Given the description of an element on the screen output the (x, y) to click on. 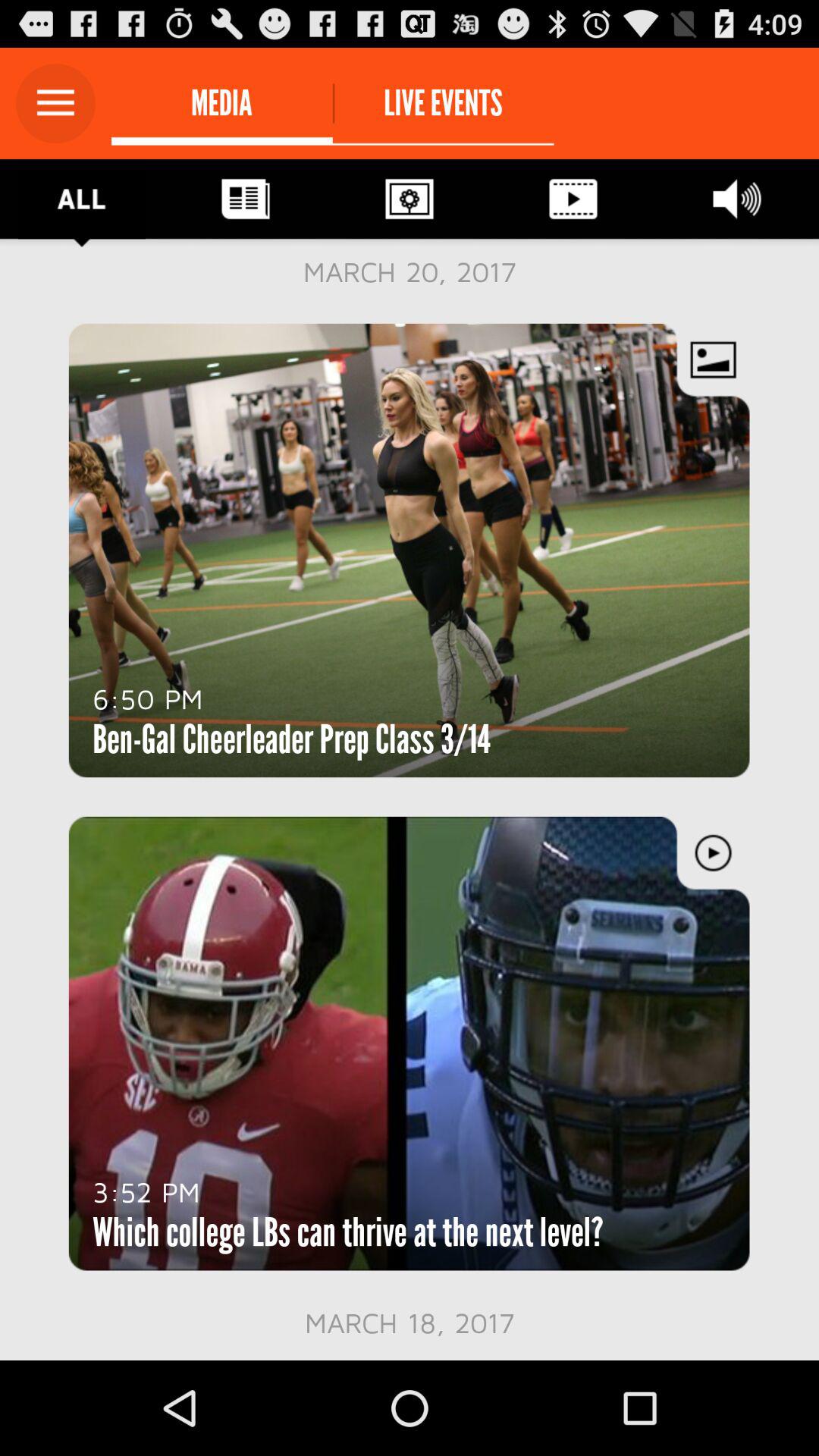
flip to which college lbs (347, 1232)
